Given the description of an element on the screen output the (x, y) to click on. 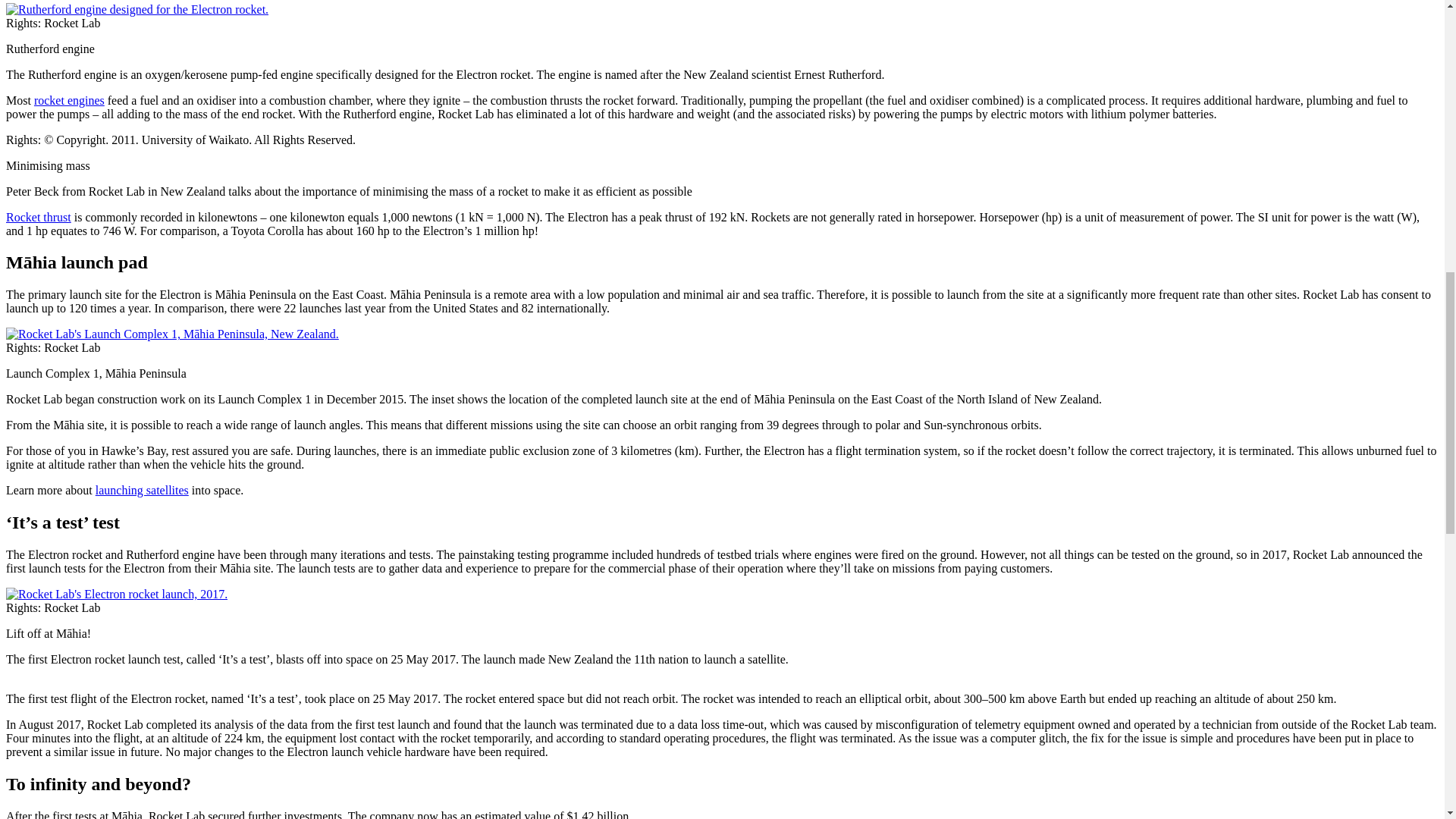
rocket engines (68, 100)
launching satellites (142, 490)
Rocket thrust (38, 216)
